Given the description of an element on the screen output the (x, y) to click on. 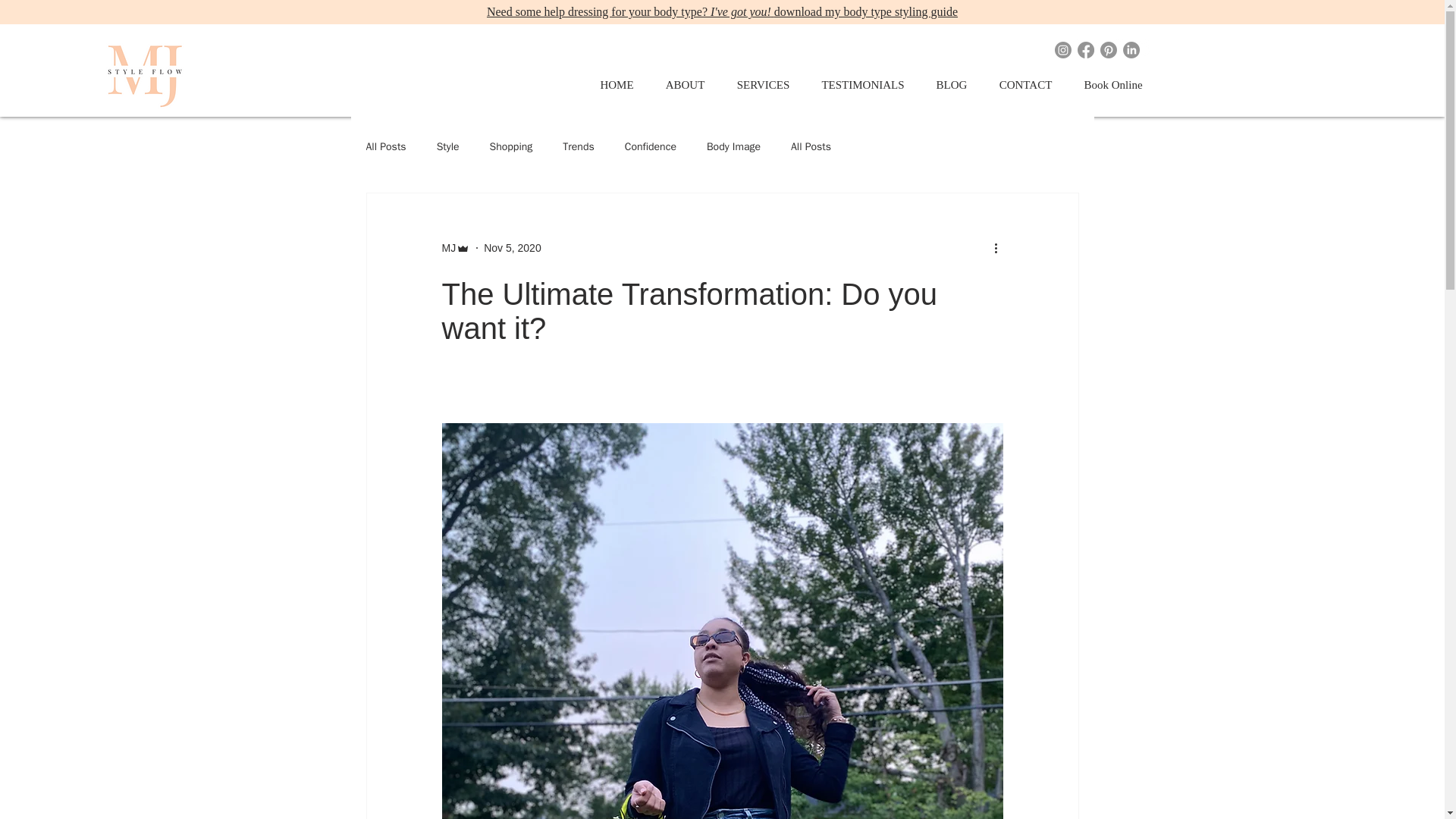
CONTACT (1024, 85)
All Posts (385, 146)
Style (448, 146)
SERVICES (762, 85)
TESTIMONIALS (862, 85)
BLOG (951, 85)
Body Image (733, 146)
All Posts (810, 146)
Book Online (1112, 85)
Nov 5, 2020 (512, 247)
